Given the description of an element on the screen output the (x, y) to click on. 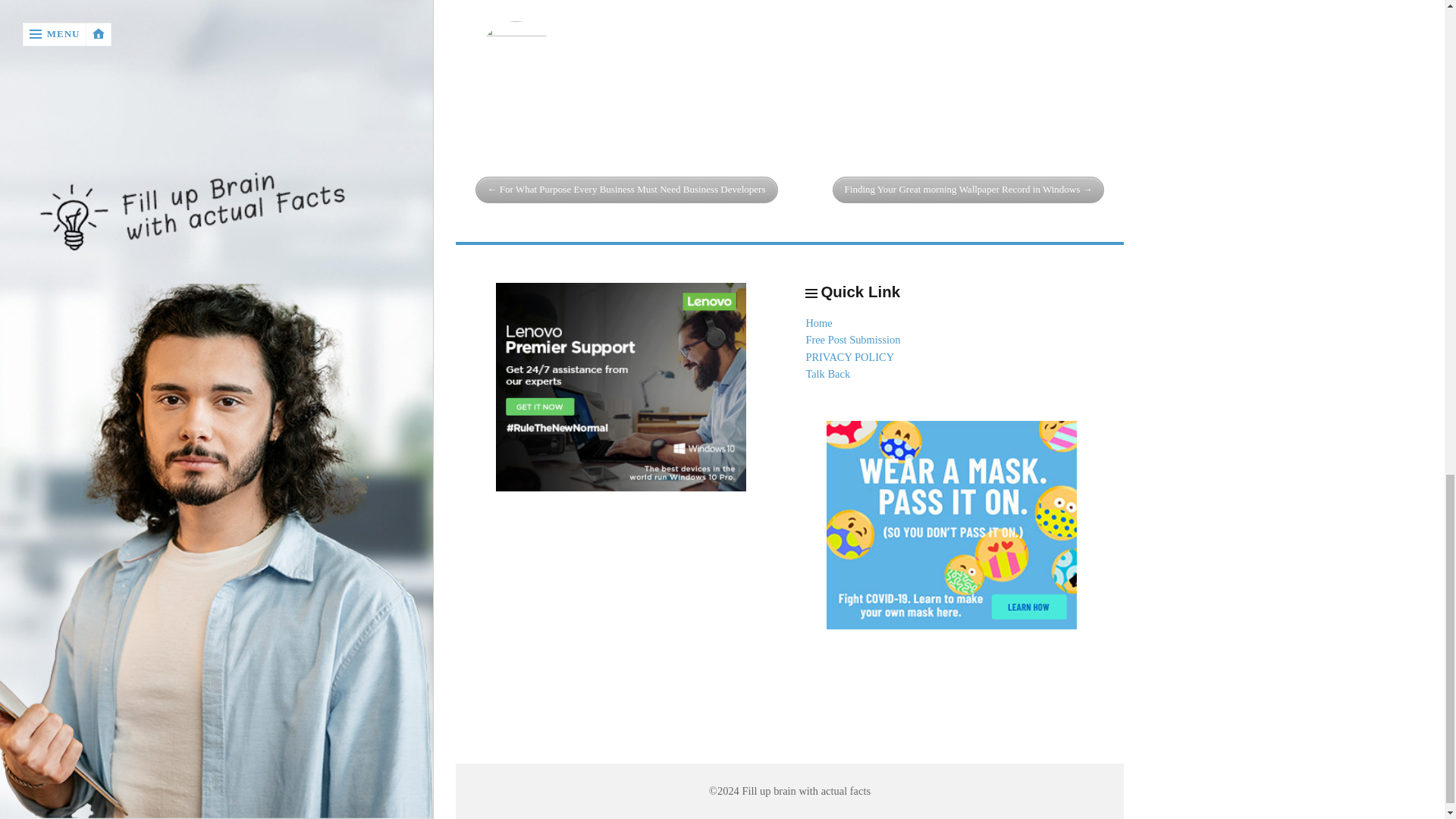
Talk Back (827, 373)
Free Post Submission (852, 339)
PRIVACY POLICY (849, 357)
Finding Your Great morning Wallpaper Record in Windows (968, 189)
Home (818, 322)
